Given the description of an element on the screen output the (x, y) to click on. 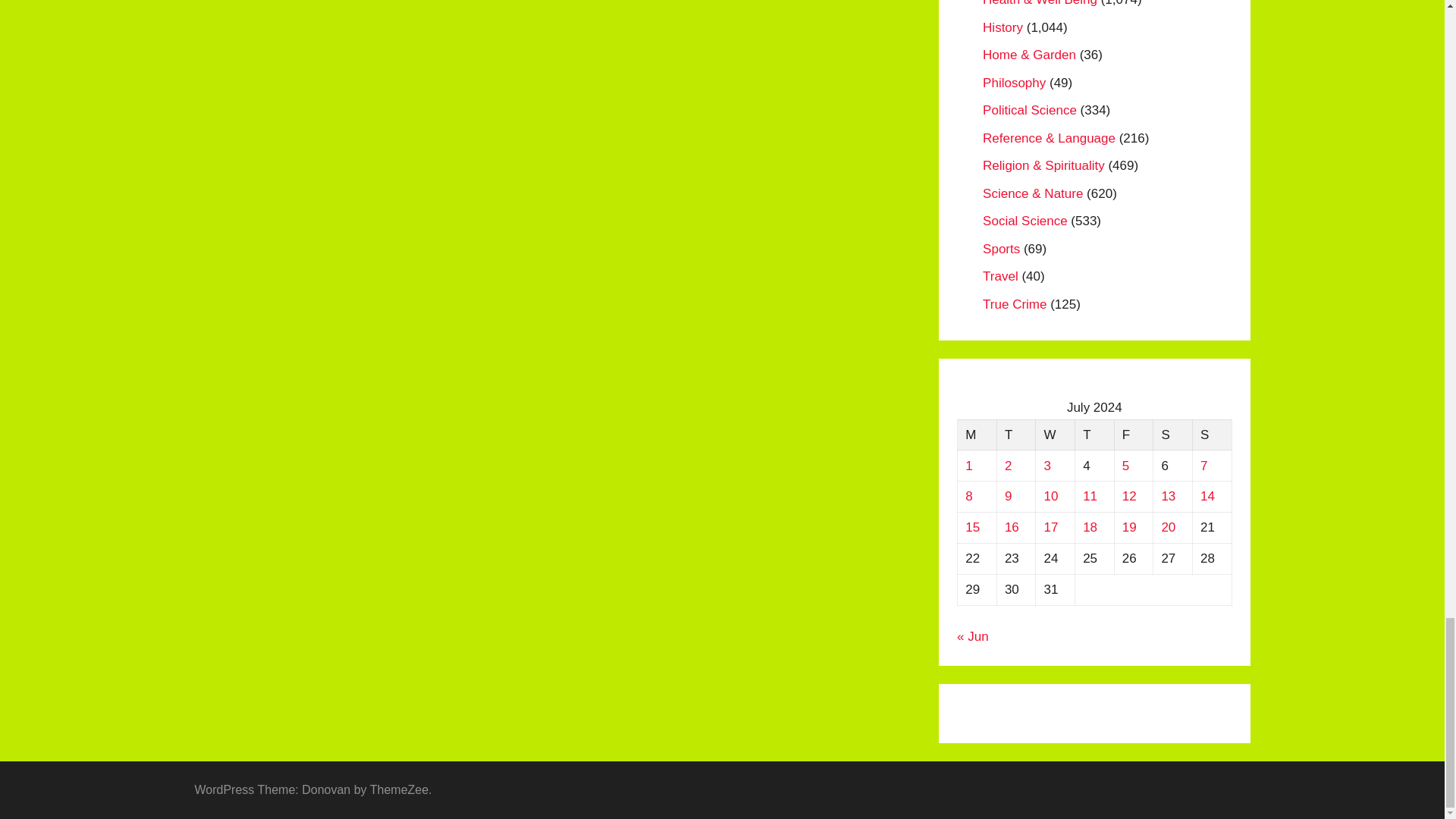
Wednesday (1055, 434)
Sunday (1211, 434)
Saturday (1172, 434)
Thursday (1093, 434)
Friday (1133, 434)
Tuesday (1015, 434)
Monday (977, 434)
